Given the description of an element on the screen output the (x, y) to click on. 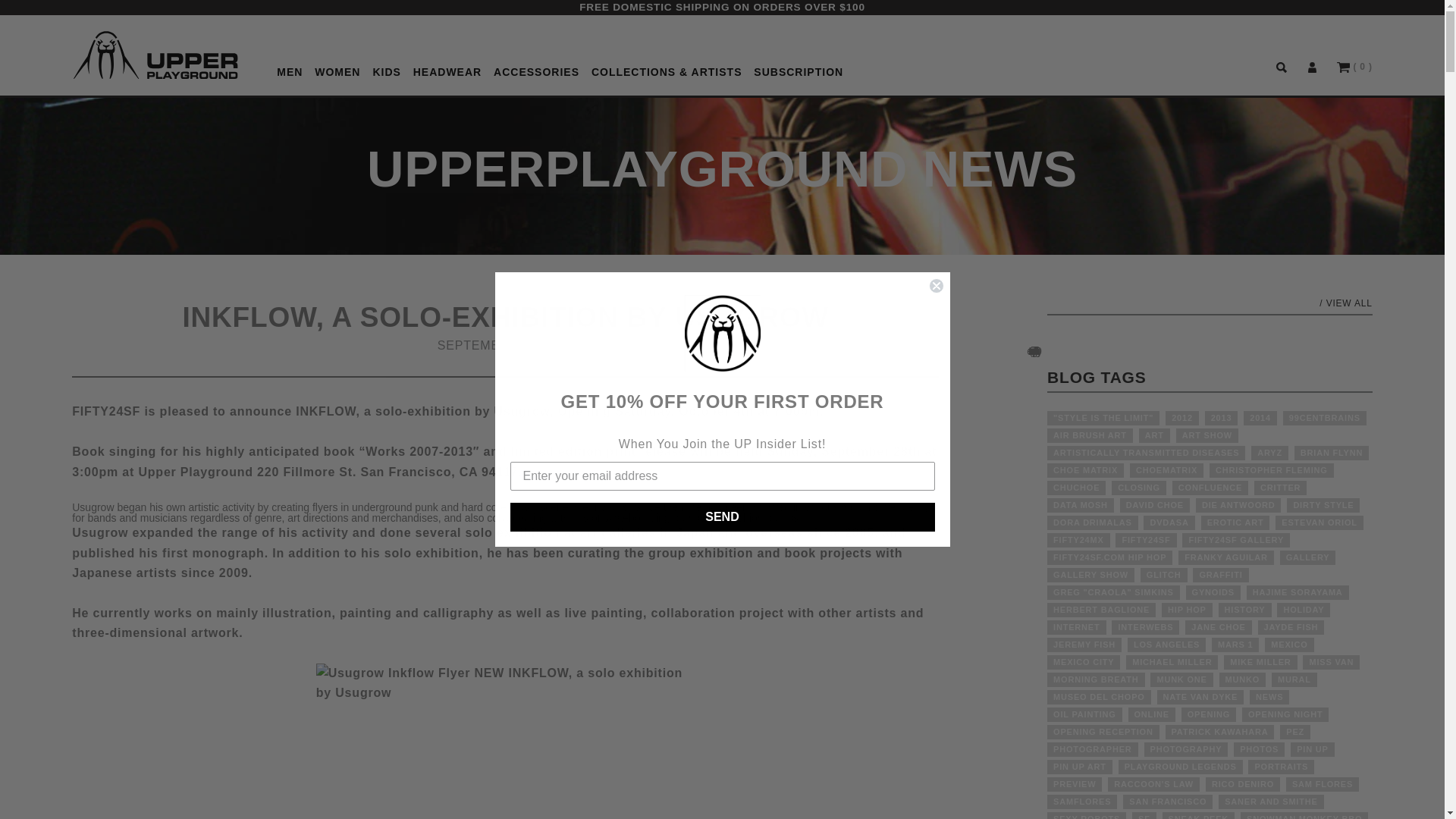
Close dialog 1 (935, 285)
UP-Logo-2018 (154, 55)
UP-Logo-2018 (154, 55)
INKFLOW, a solo exhibition by Usugrow (505, 741)
